Given the description of an element on the screen output the (x, y) to click on. 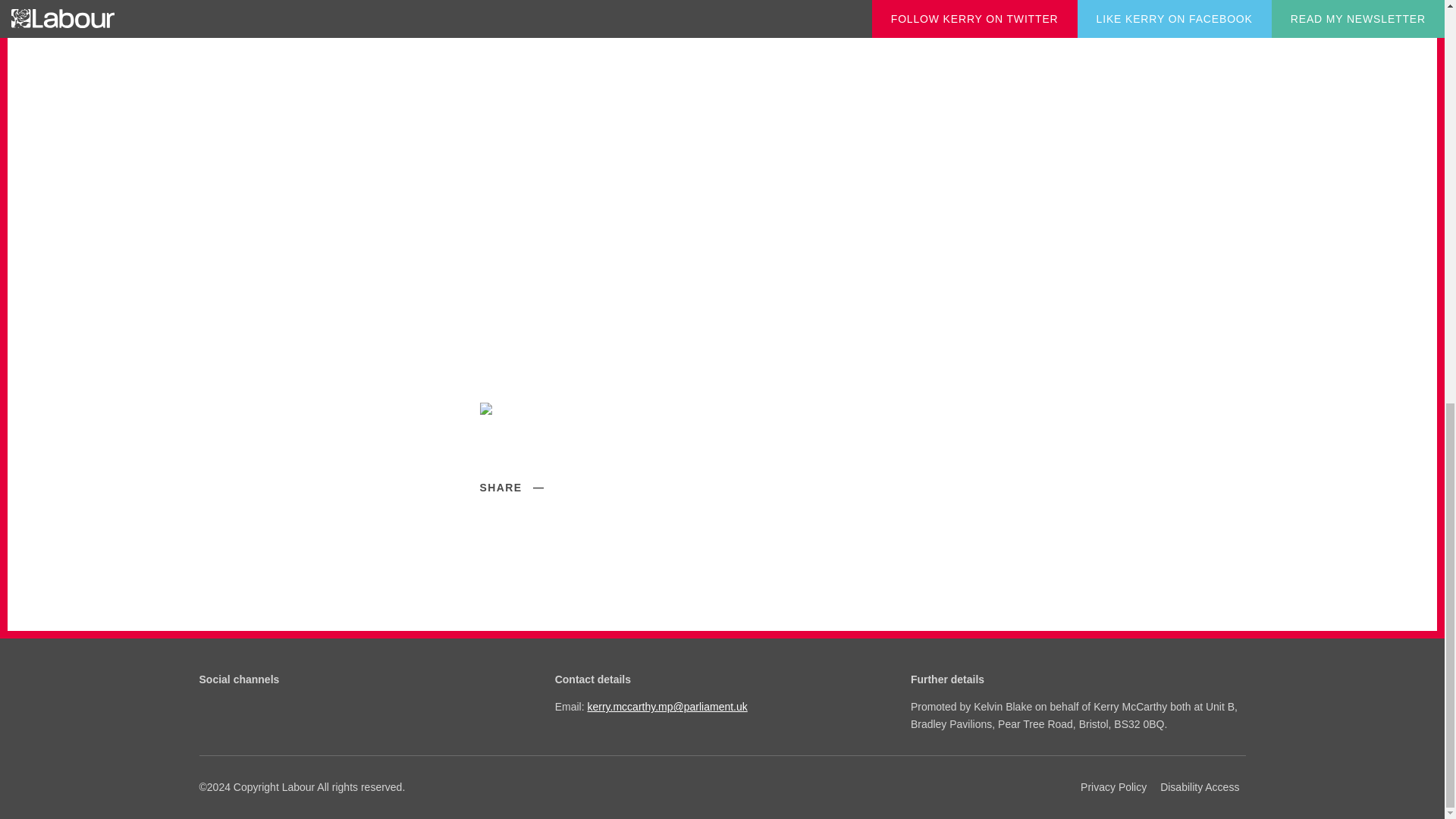
Disability Access (1199, 786)
Privacy Policy (1113, 786)
